Given the description of an element on the screen output the (x, y) to click on. 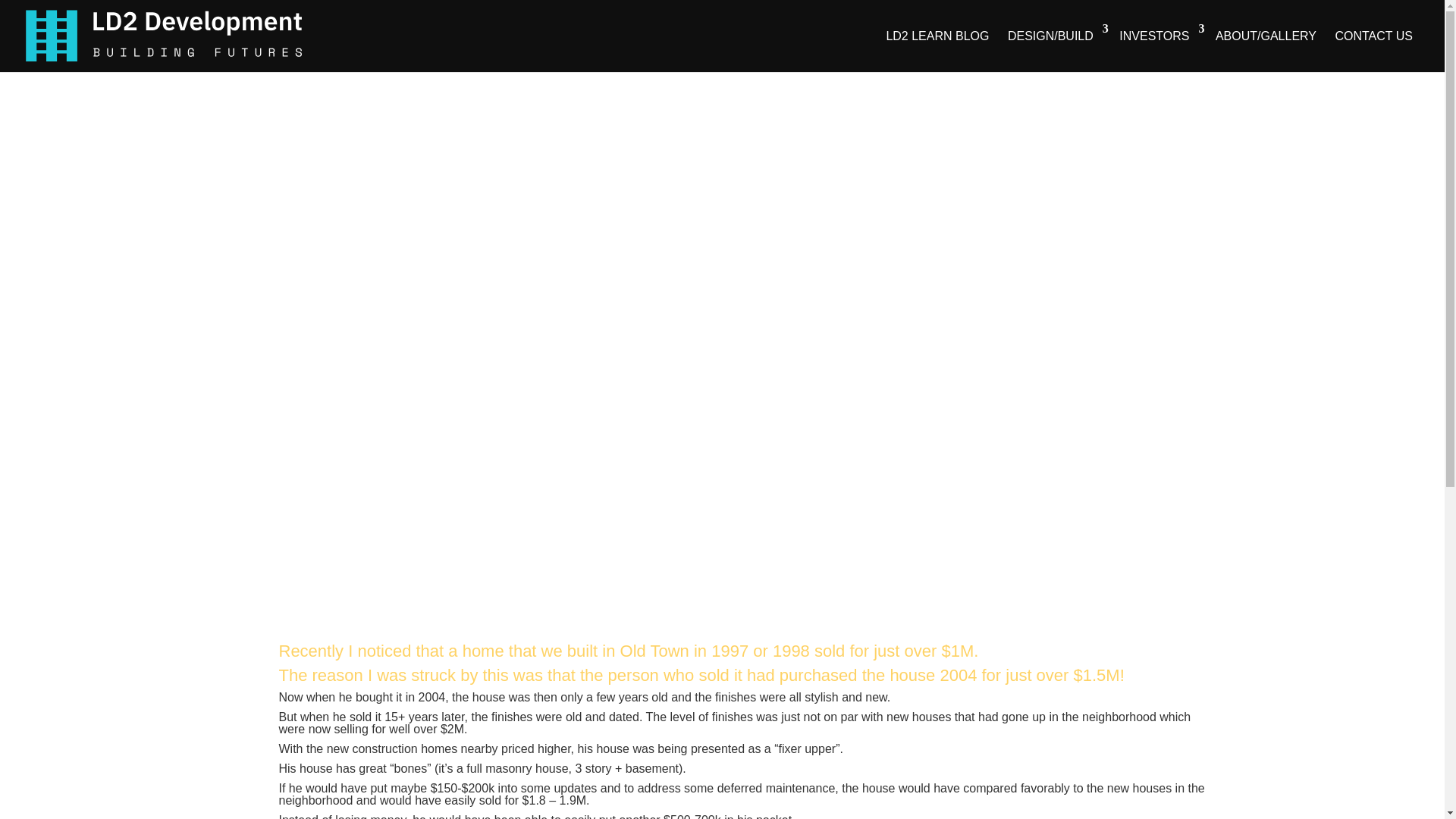
CONTACT US (1373, 35)
LD2 LEARN BLOG (936, 35)
INVESTORS (1158, 35)
